Given the description of an element on the screen output the (x, y) to click on. 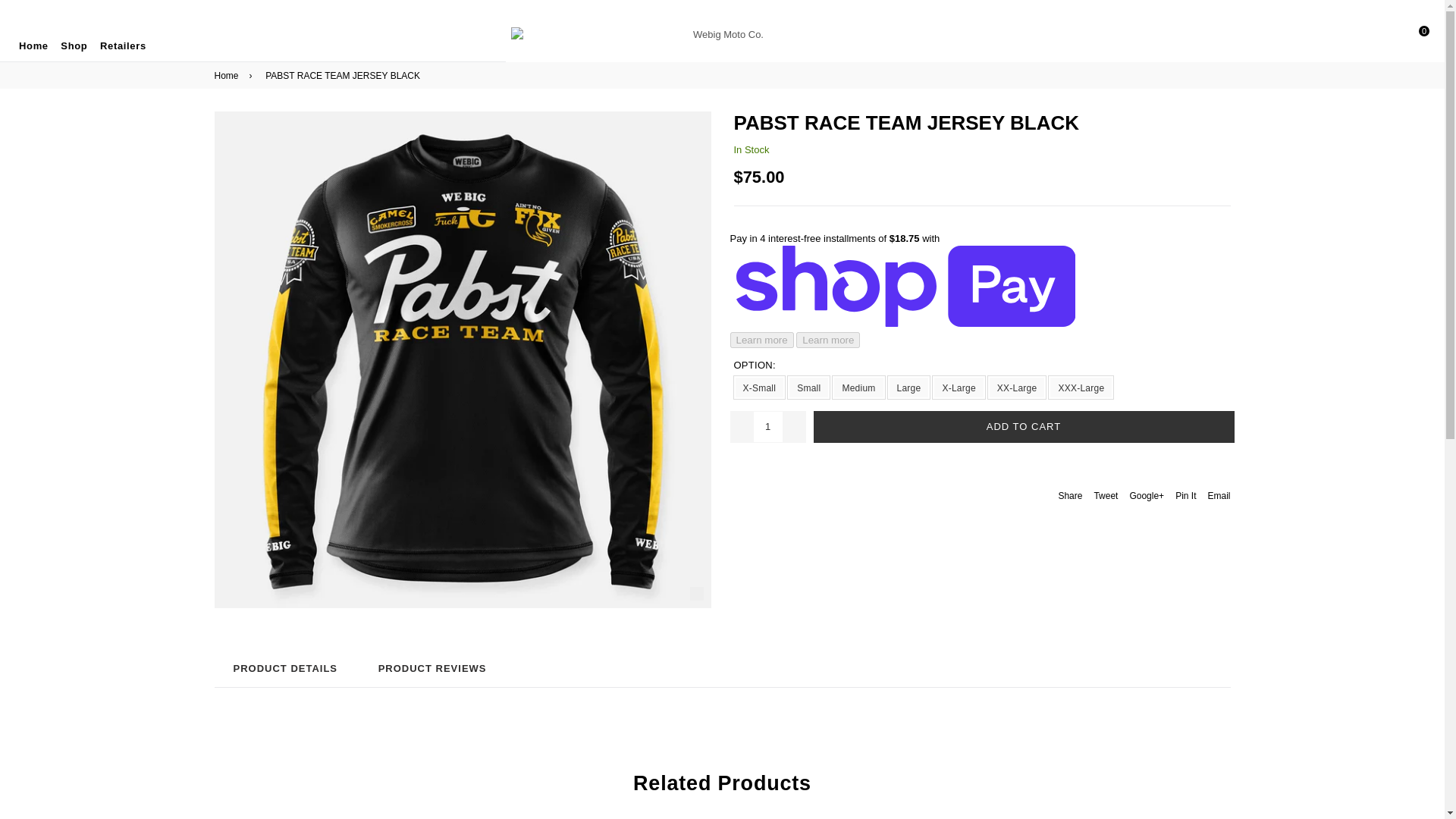
Pin on Pinterest (1185, 495)
Large (909, 386)
Shop (79, 45)
Small (808, 386)
XXX-Large (1080, 386)
Share on Facebook (1070, 495)
Home (38, 45)
Tweet on Twitter (1105, 495)
Share by Email (1218, 495)
Back to the home page (228, 74)
